Given the description of an element on the screen output the (x, y) to click on. 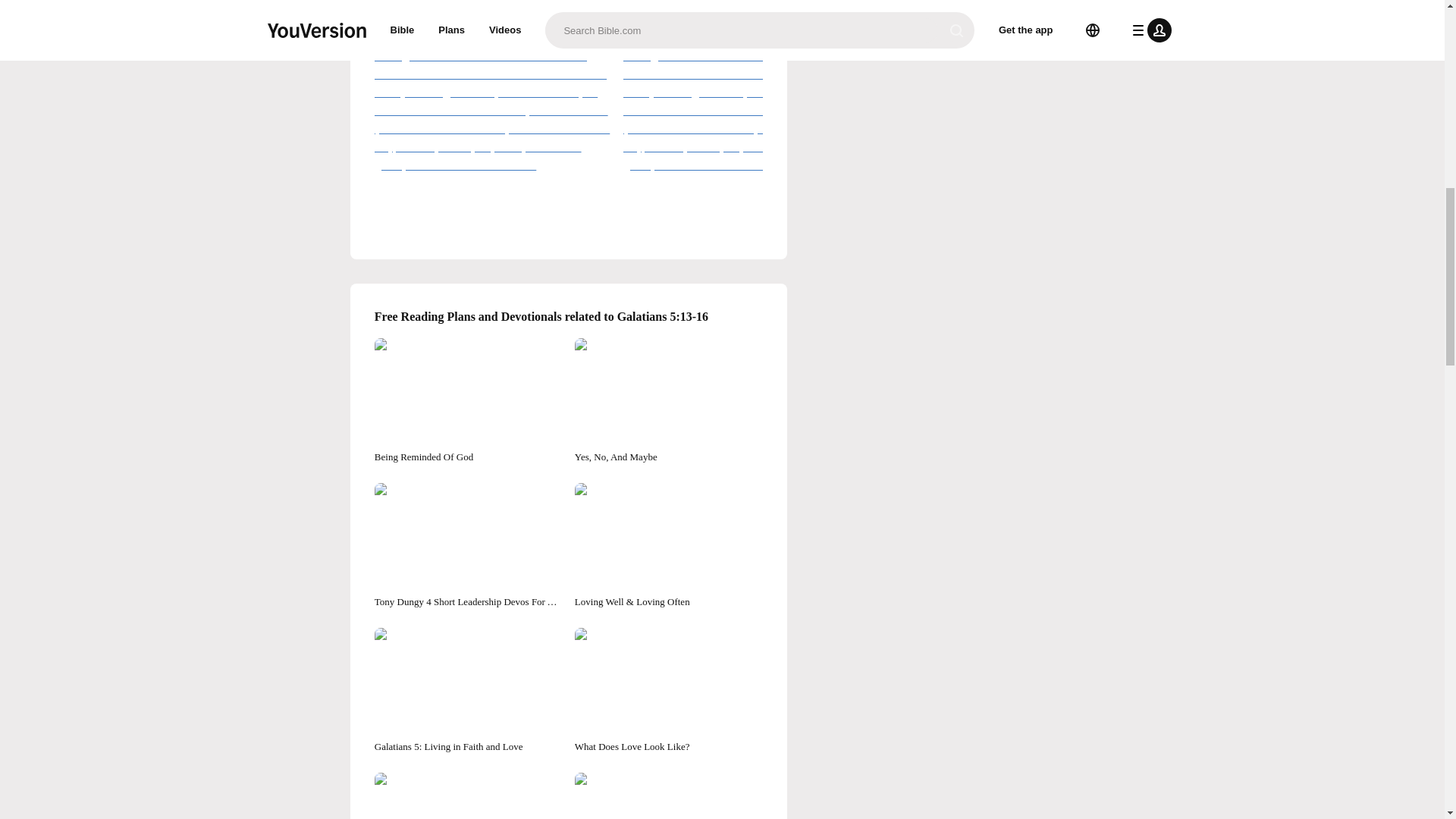
Being Reminded Of God (468, 401)
Tony Dungy 4 Short Leadership Devos For All Teams (468, 546)
Yes, No, And Maybe (668, 401)
